Given the description of an element on the screen output the (x, y) to click on. 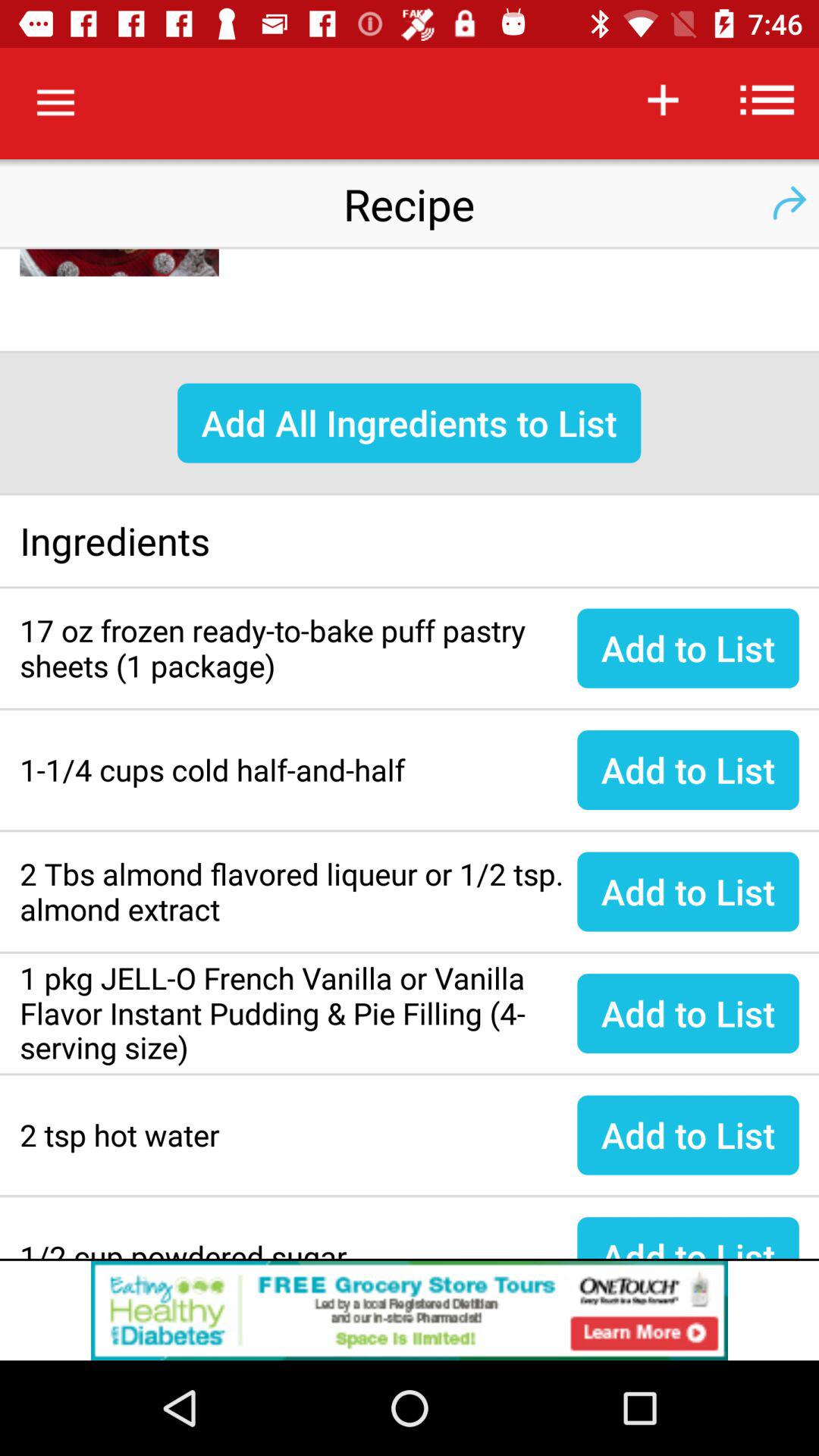
view the advertisement in a browser (409, 1310)
